Given the description of an element on the screen output the (x, y) to click on. 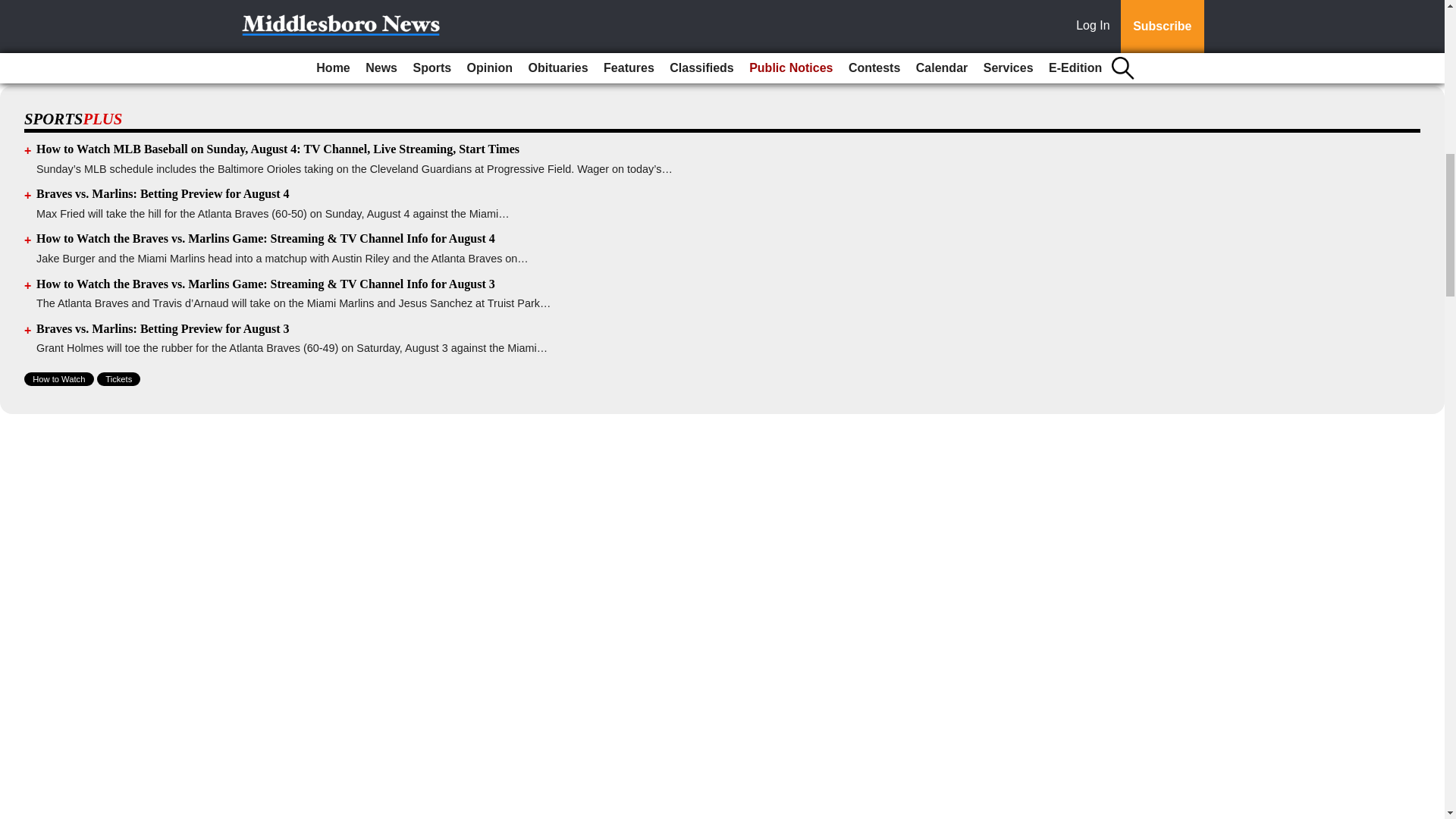
Braves vs. Marlins: Betting Preview for August 3 (162, 328)
Tickets (118, 378)
How to Watch (59, 378)
Braves vs. Marlins: Betting Preview for August 4 (162, 193)
